Given the description of an element on the screen output the (x, y) to click on. 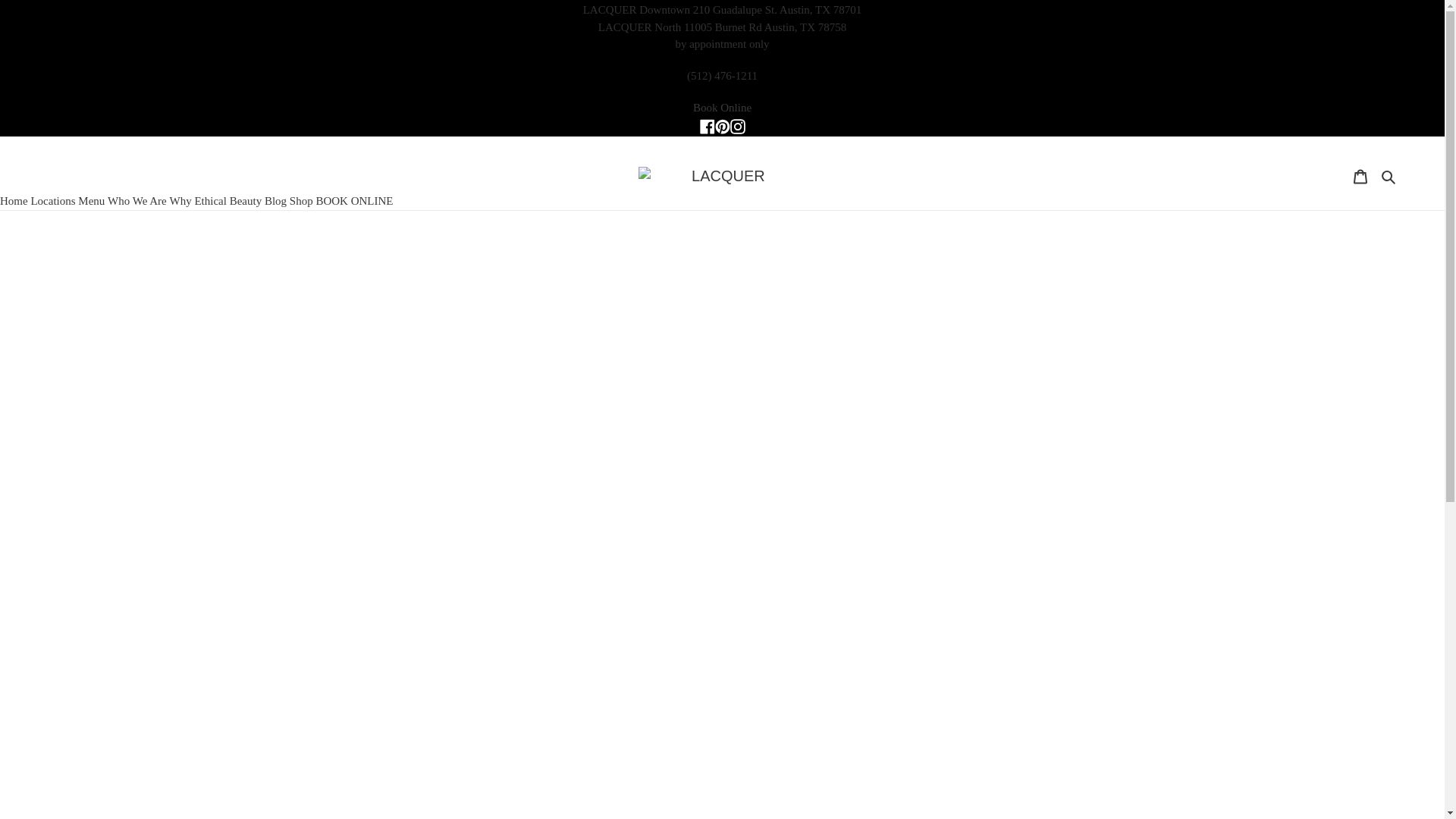
Home (13, 200)
Menu (91, 200)
Instagram (736, 125)
Cart (1359, 174)
Pinterest (721, 125)
Search (1389, 175)
Facebook (706, 125)
Why Ethical Beauty (216, 200)
Blog (275, 200)
BOOK ONLINE (354, 200)
Book Online (722, 107)
Locations (52, 200)
Shop (301, 200)
Who We Are (137, 200)
